Given the description of an element on the screen output the (x, y) to click on. 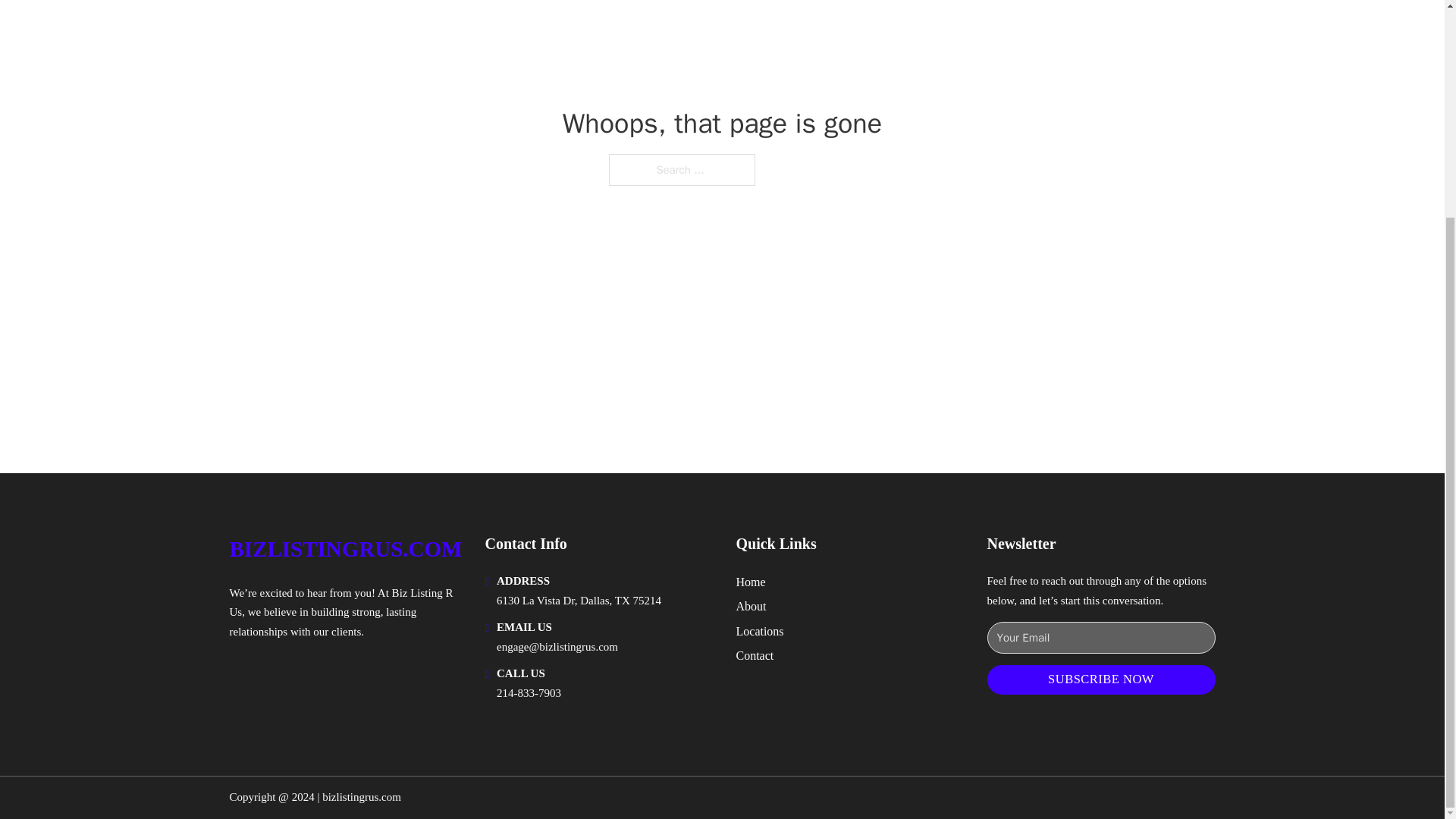
214-833-7903 (528, 693)
Locations (759, 630)
Home (750, 581)
BIZLISTINGRUS.COM (344, 549)
Contact (754, 655)
SUBSCRIBE NOW (1101, 679)
About (750, 606)
